Given the description of an element on the screen output the (x, y) to click on. 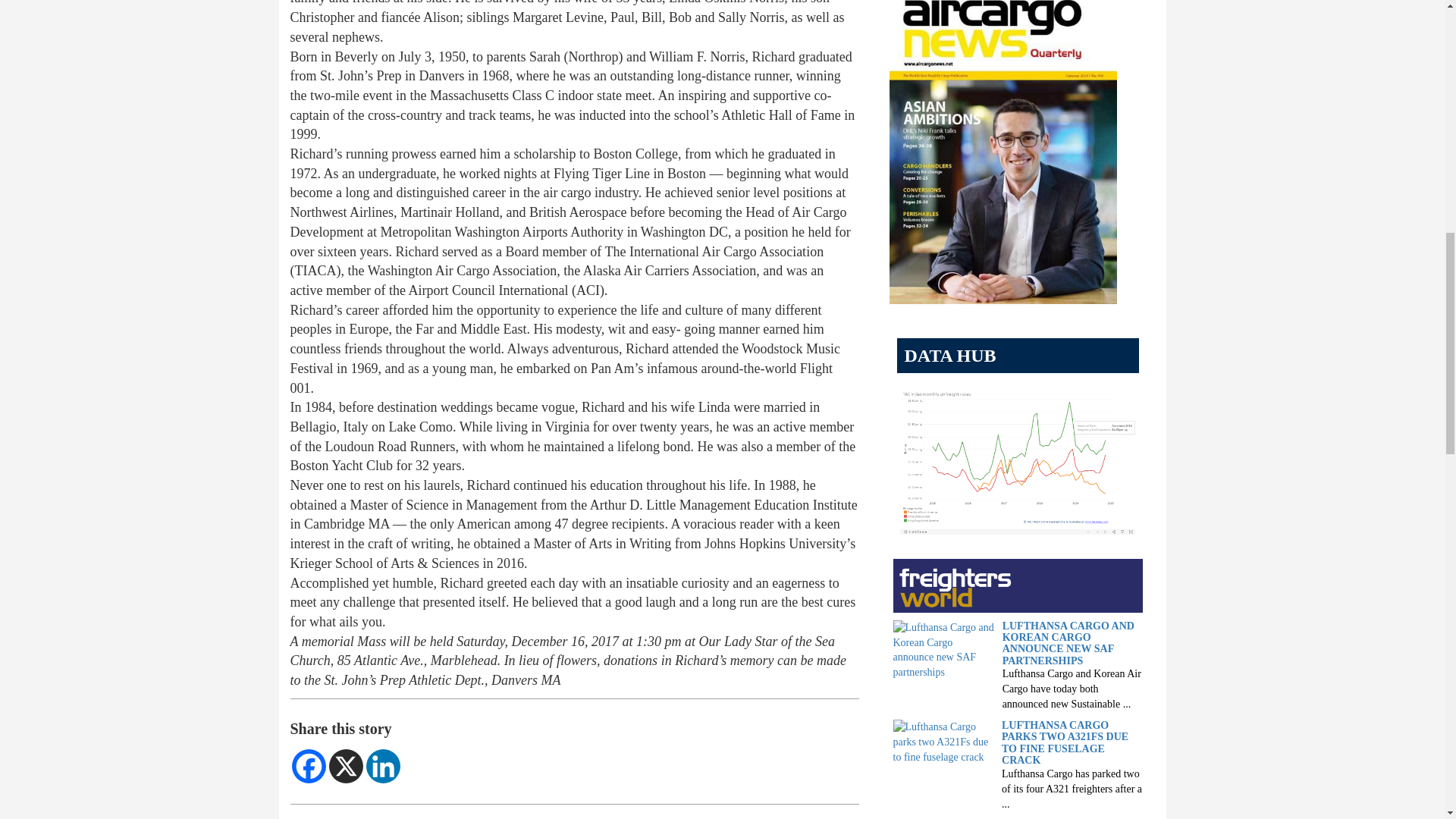
Facebook (307, 765)
Linkedin (381, 765)
X (345, 765)
